Given the description of an element on the screen output the (x, y) to click on. 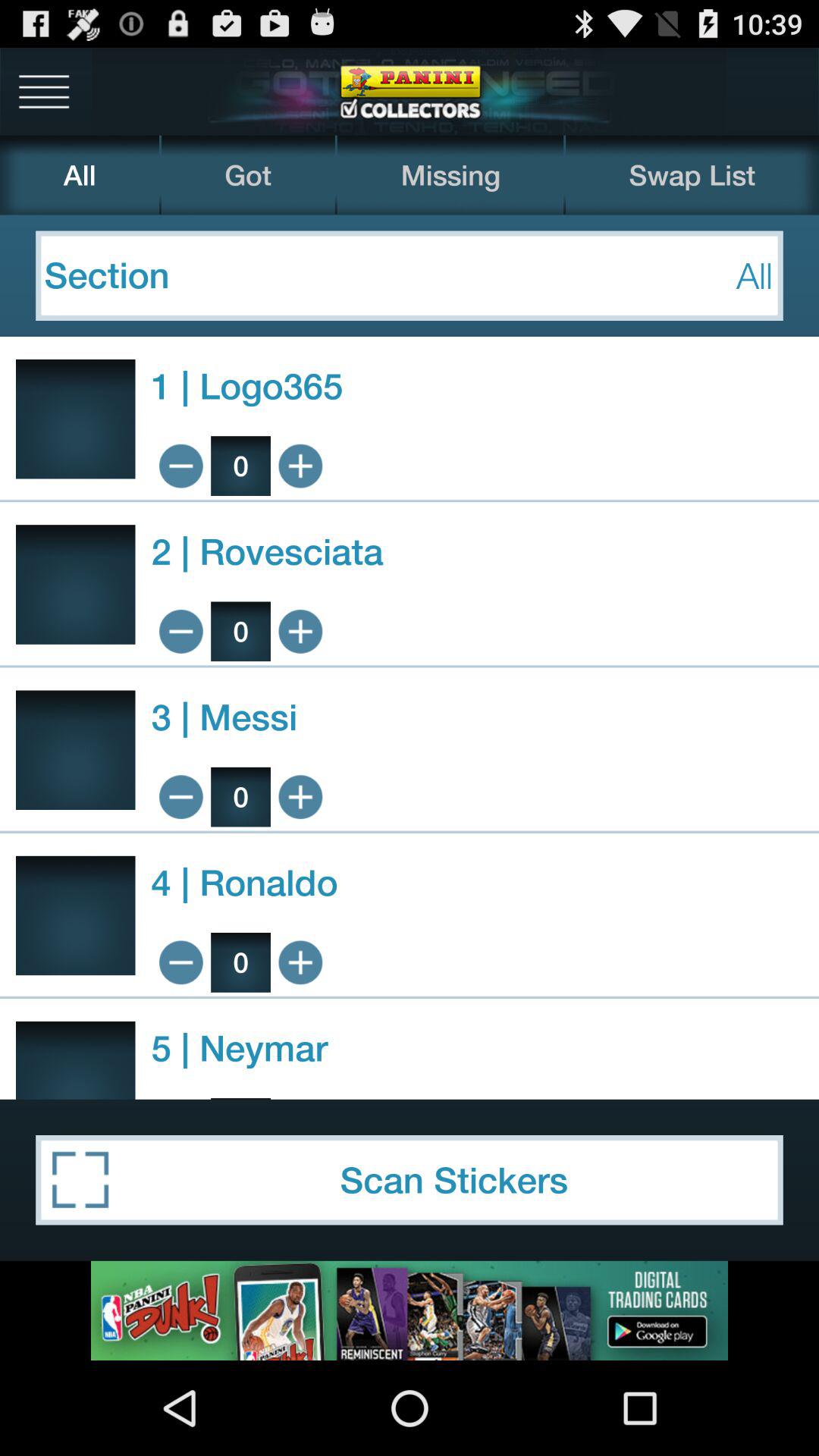
go to subtraction option (181, 962)
